Given the description of an element on the screen output the (x, y) to click on. 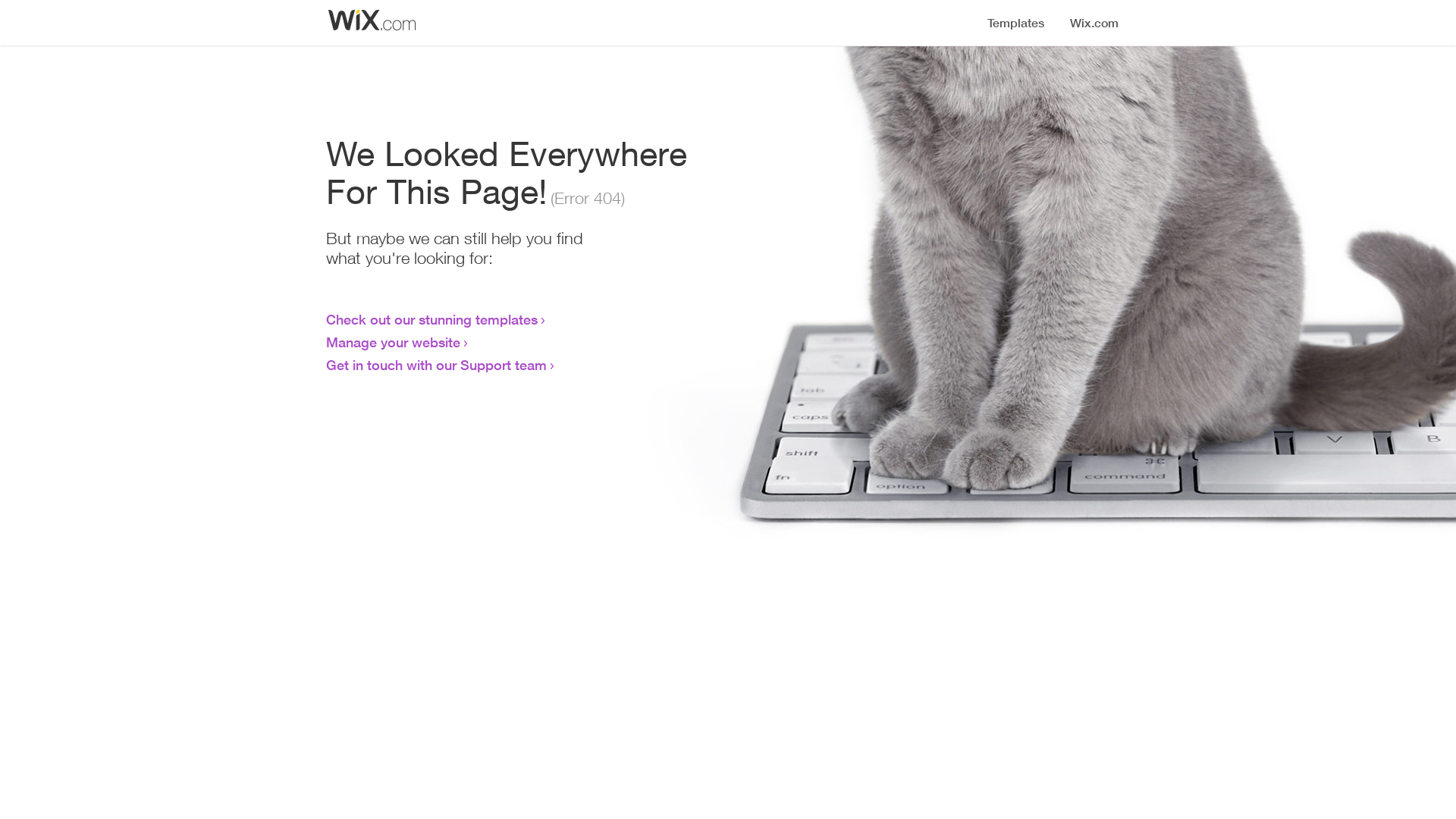
Manage your website Element type: text (393, 341)
Check out our stunning templates Element type: text (431, 318)
Get in touch with our Support team Element type: text (436, 364)
